Given the description of an element on the screen output the (x, y) to click on. 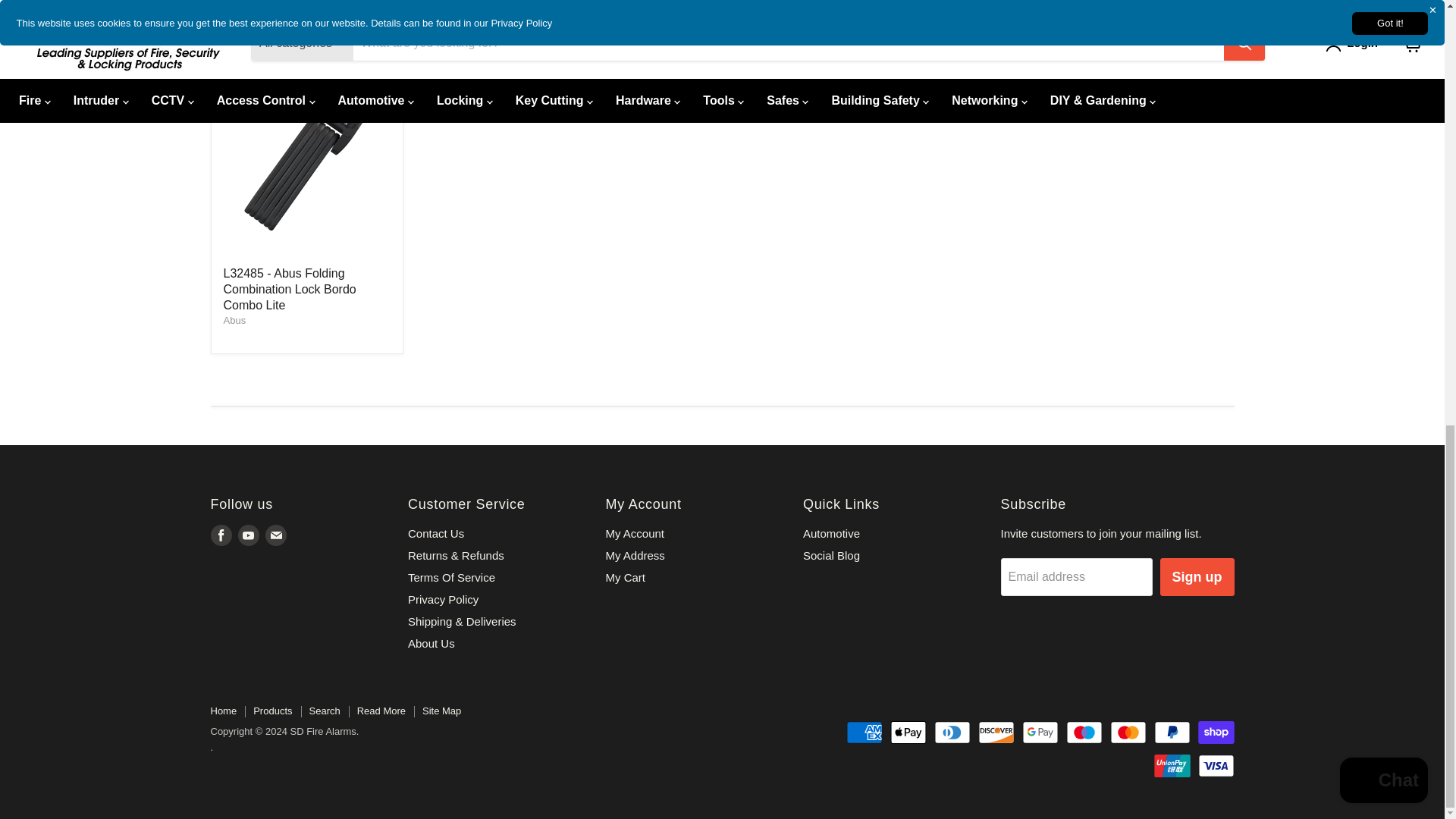
Abus (234, 319)
Youtube (248, 535)
Email (275, 535)
Facebook (221, 535)
